Given the description of an element on the screen output the (x, y) to click on. 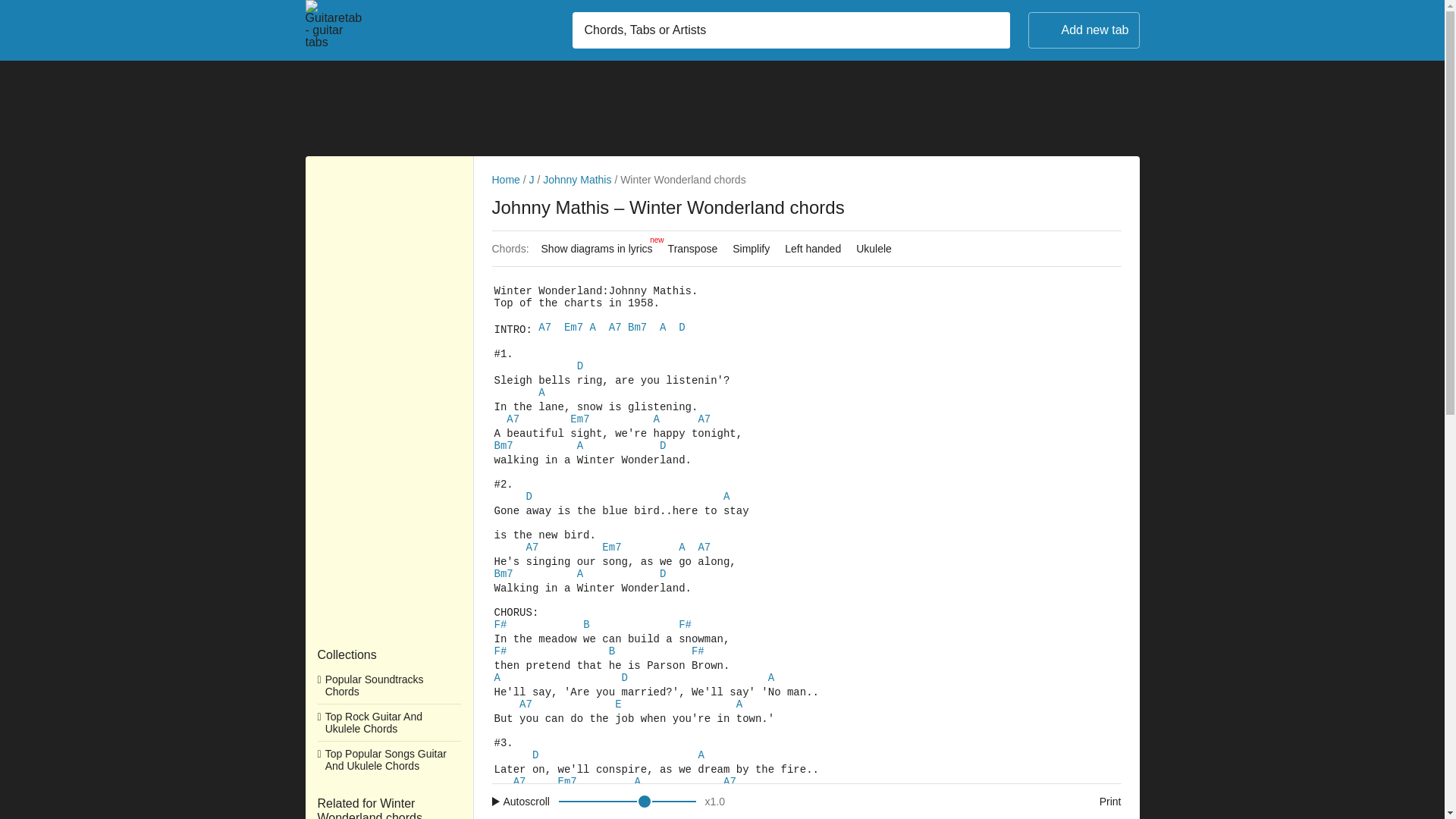
Print (1094, 801)
Add new tab (1083, 30)
Autoscroll (524, 801)
Ukulele (873, 248)
x1.0 (641, 801)
x1.0 (714, 801)
Guitaretab - guitar tabs (336, 33)
Simplify (751, 248)
Left handed (812, 248)
Autoscroll (806, 800)
1.0 (524, 801)
Transpose (716, 801)
Home (693, 248)
